Given the description of an element on the screen output the (x, y) to click on. 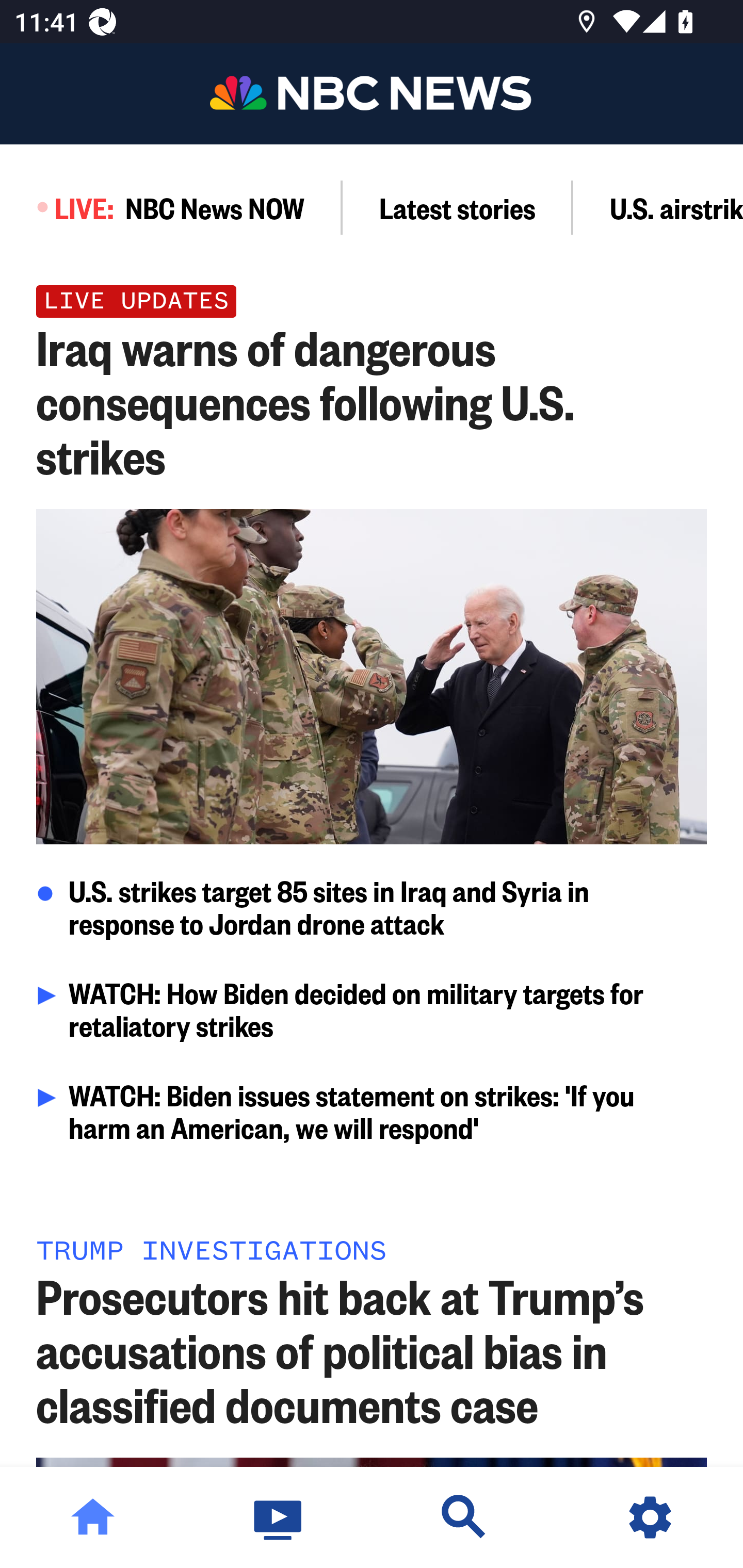
LIVE:  NBC News NOW (171, 207)
Latest stories Section,Latest stories (457, 207)
U.S. airstrikes (658, 207)
Watch (278, 1517)
Discover (464, 1517)
Settings (650, 1517)
